Given the description of an element on the screen output the (x, y) to click on. 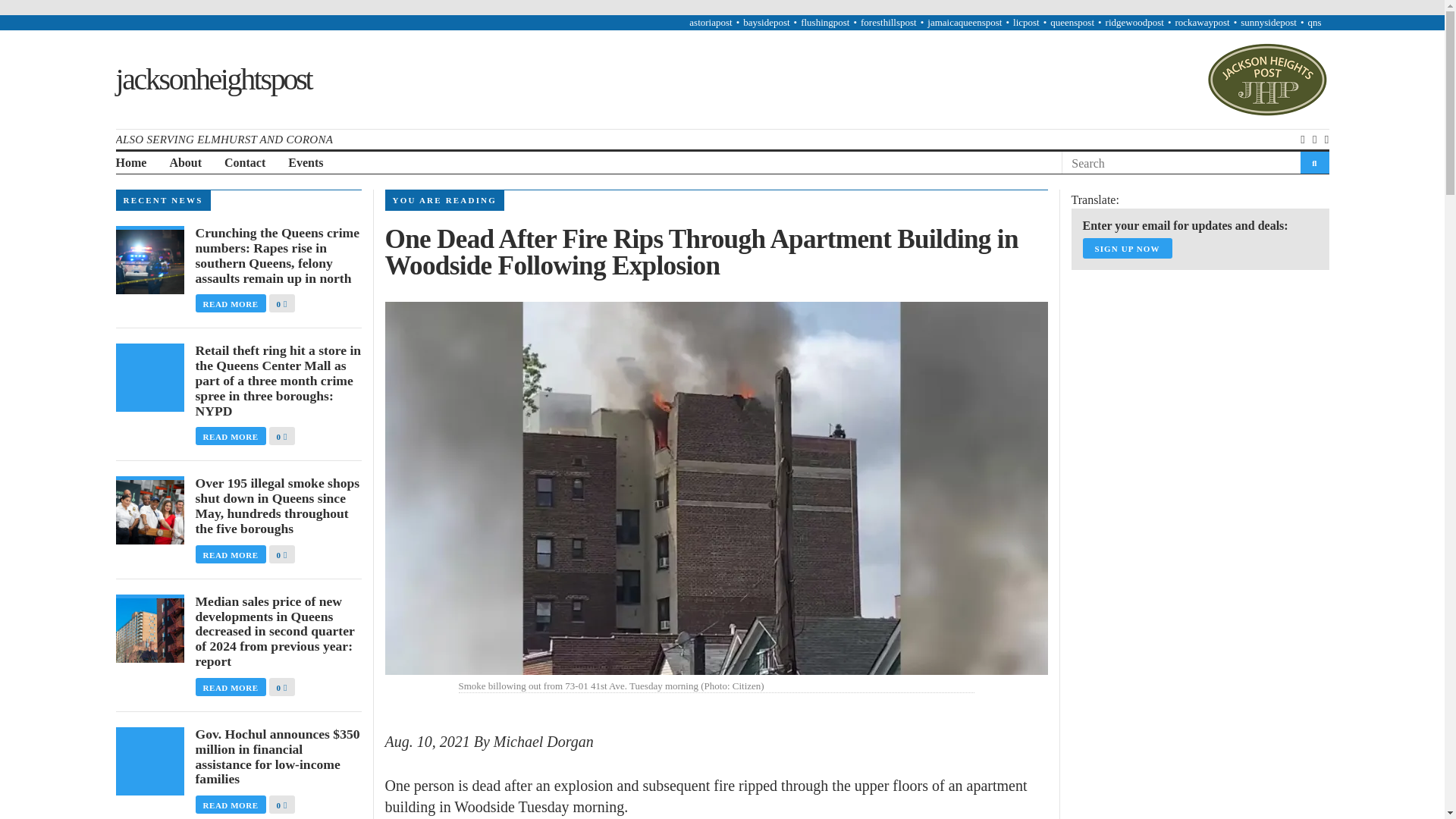
Home (131, 163)
sunnysidepost (1268, 21)
About (185, 163)
ridgewoodpost (1134, 21)
qns (1313, 21)
jamaicaqueenspost (964, 21)
Events (305, 163)
licpost (1026, 21)
foresthillspost (888, 21)
Contact (244, 163)
baysidepost (765, 21)
flushingpost (824, 21)
astoriapost (710, 21)
rockawaypost (1201, 21)
queenspost (1071, 21)
